Given the description of an element on the screen output the (x, y) to click on. 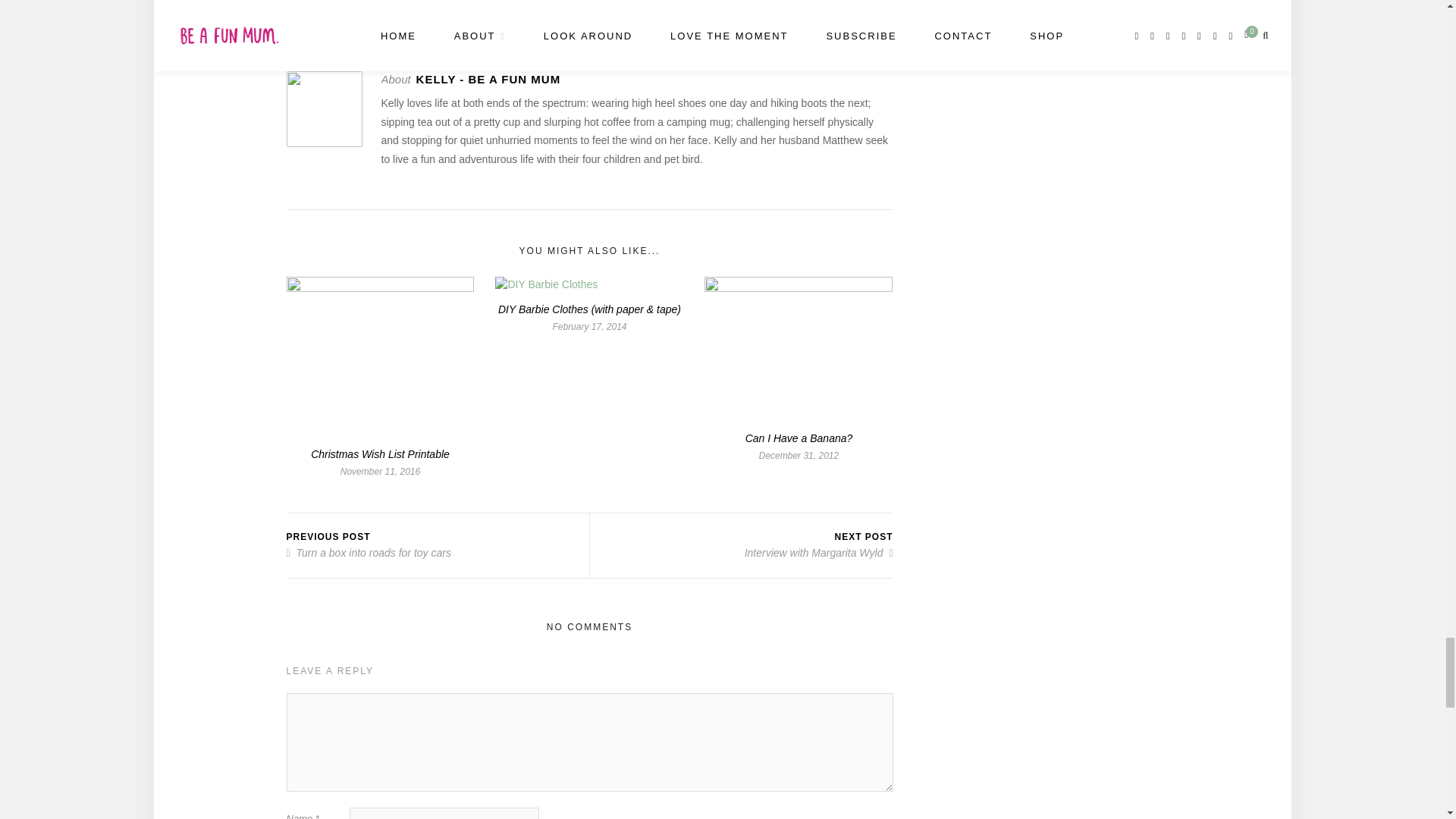
Posts by Kelly - Be A Fun Mum (471, 18)
Posts by Kelly - Be A Fun Mum (488, 79)
